Given the description of an element on the screen output the (x, y) to click on. 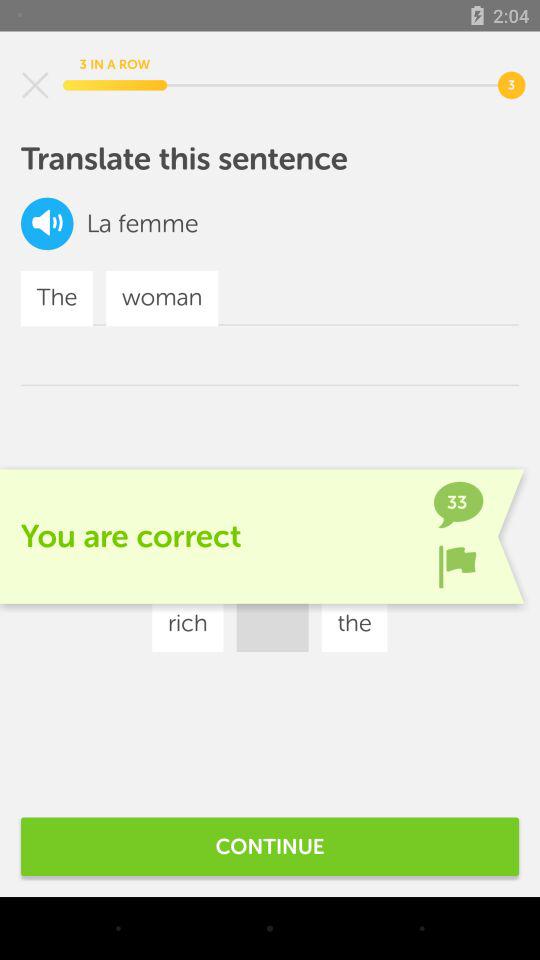
exit (35, 85)
